Given the description of an element on the screen output the (x, y) to click on. 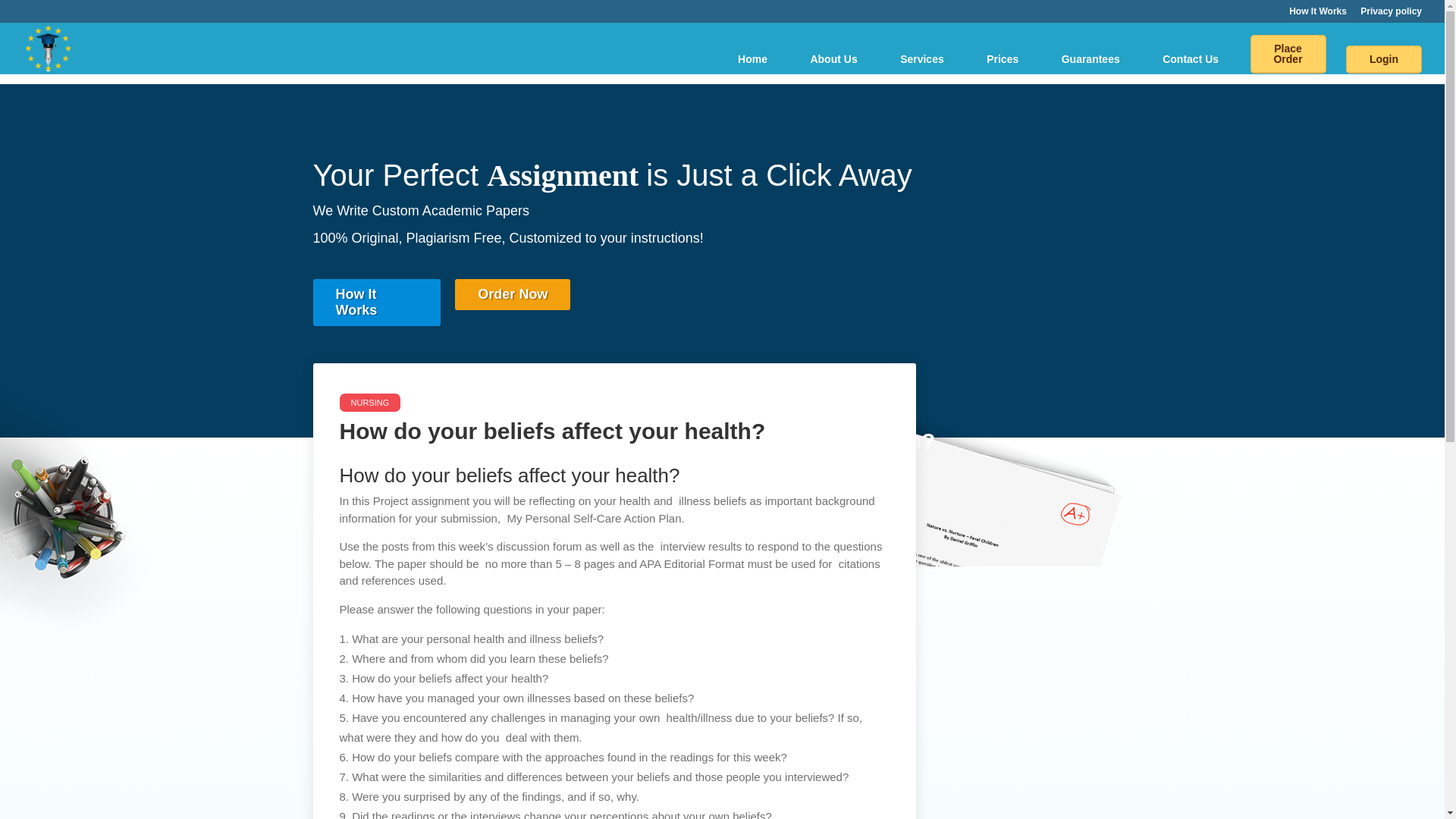
Guarantees (1090, 58)
Login (1383, 59)
Privacy policy (1390, 14)
NURSING (370, 402)
Prices (1002, 58)
Place Order (1288, 54)
How It Works (376, 302)
How It Works (1317, 14)
Contact Us (1190, 58)
Services (921, 58)
